Given the description of an element on the screen output the (x, y) to click on. 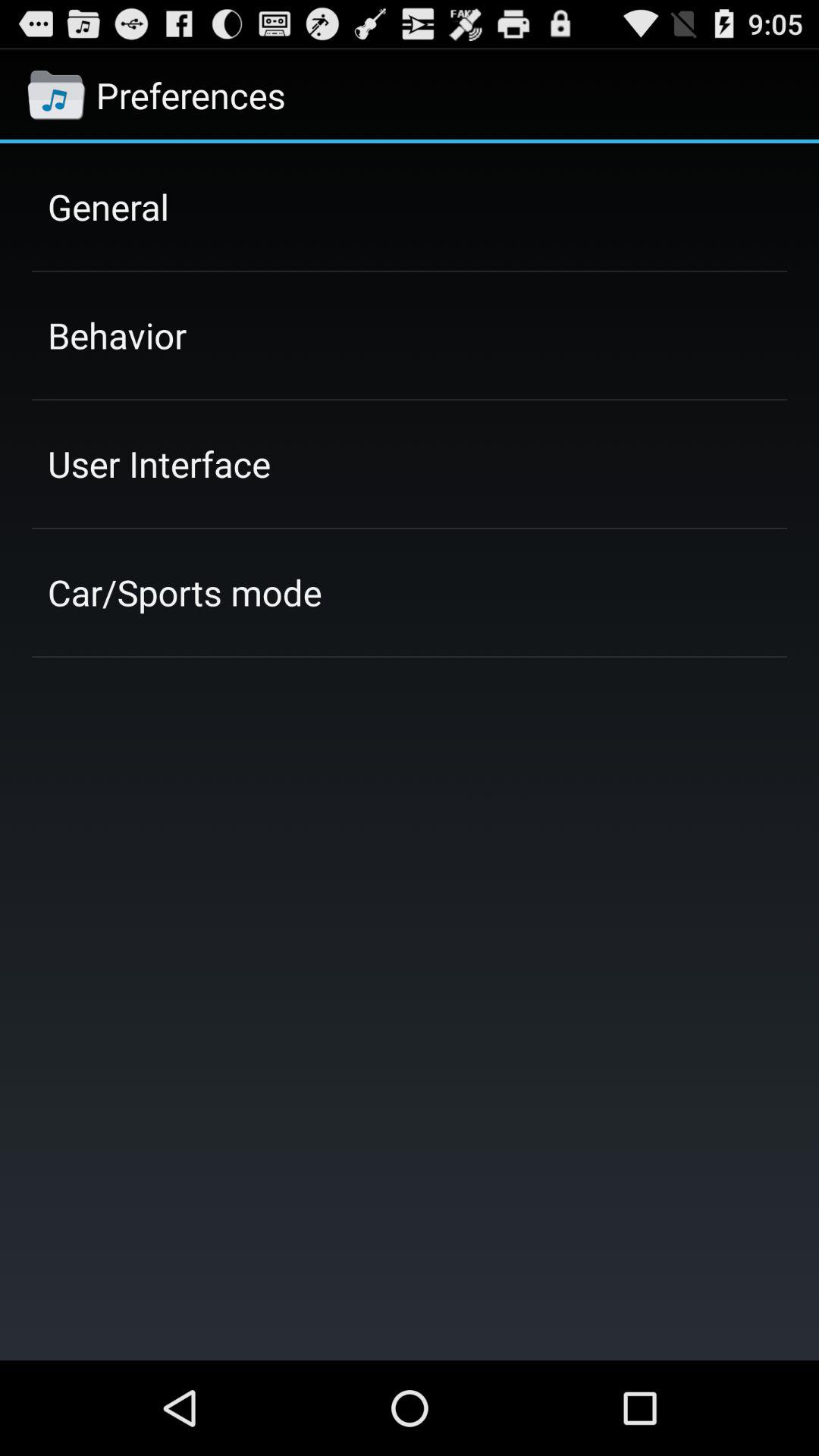
select the behavior icon (116, 335)
